Given the description of an element on the screen output the (x, y) to click on. 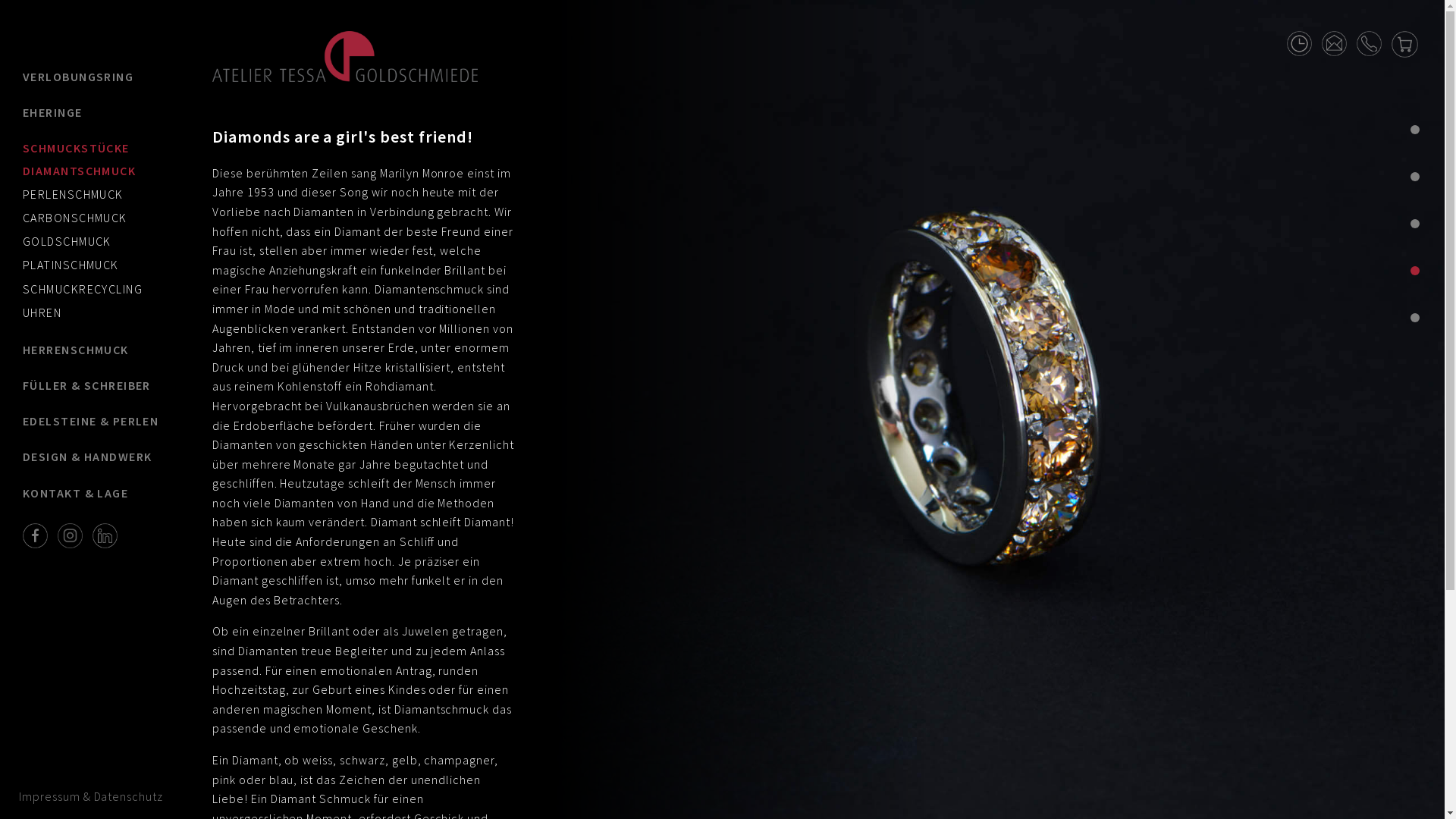
SCHMUCKRECYCLING Element type: text (82, 287)
DESIGN & HANDWERK Element type: text (92, 456)
PERLENSCHMUCK Element type: text (72, 193)
CARBONSCHMUCK Element type: text (74, 217)
telefon Element type: hover (1368, 41)
Impressum & Datenschutz Element type: text (90, 795)
EHERINGE Element type: text (92, 112)
GOLDSCHMUCK Element type: text (66, 240)
HERRENSCHMUCK Element type: text (92, 349)
Instagram Element type: hover (69, 533)
EDELSTEINE & PERLEN Element type: text (92, 421)
Facebook Element type: hover (34, 533)
VERLOBUNGSRING Element type: text (92, 76)
UHREN Element type: text (41, 312)
PLATINSCHMUCK Element type: text (70, 264)
Linkedin Element type: hover (104, 533)
DIAMANTSCHMUCK Element type: text (78, 170)
KONTAKT & LAGE Element type: text (92, 493)
TessaStore-Online Element type: hover (1404, 42)
